Given the description of an element on the screen output the (x, y) to click on. 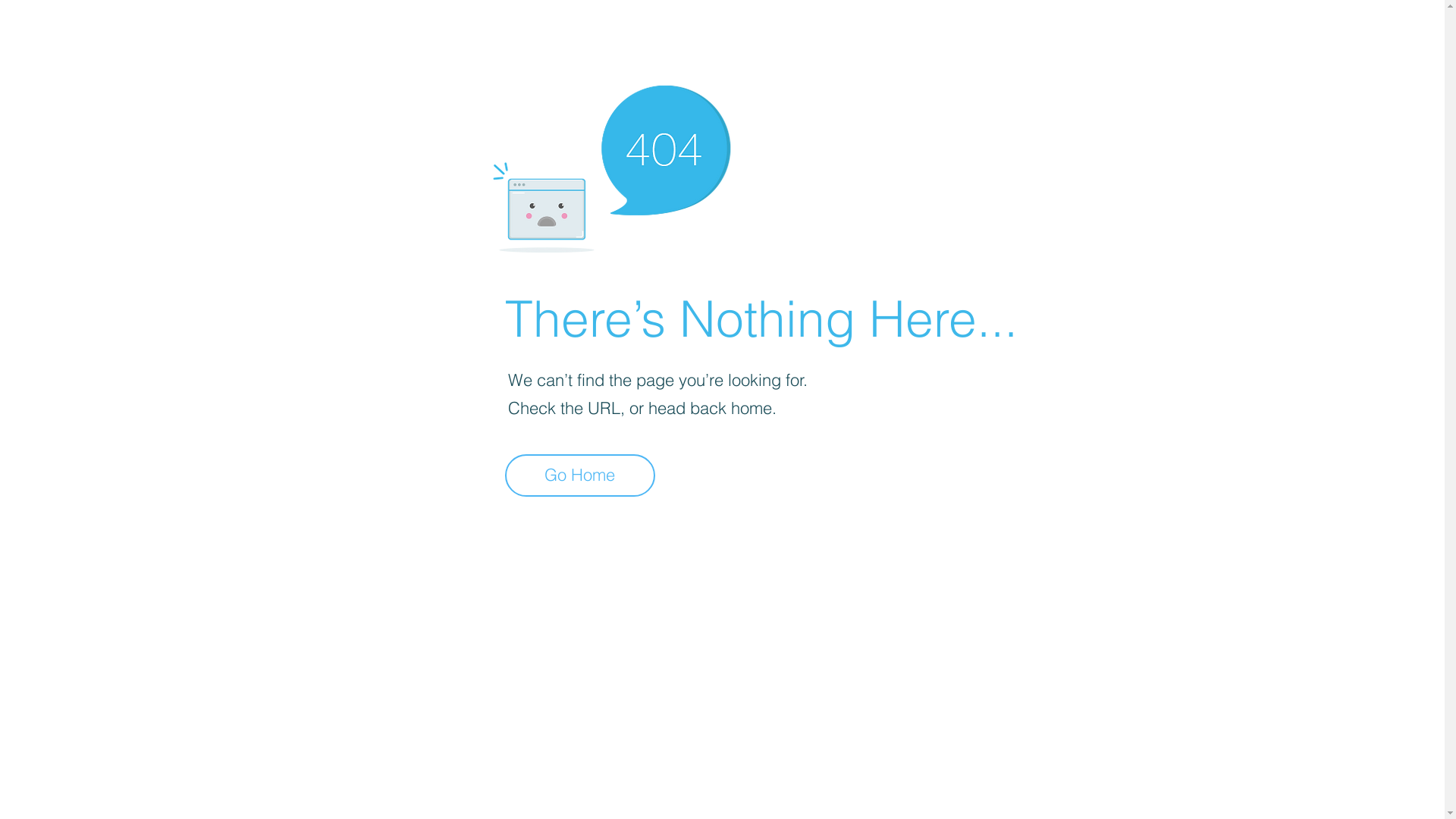
404-icon_2.png Element type: hover (610, 164)
Go Home Element type: text (580, 475)
